Given the description of an element on the screen output the (x, y) to click on. 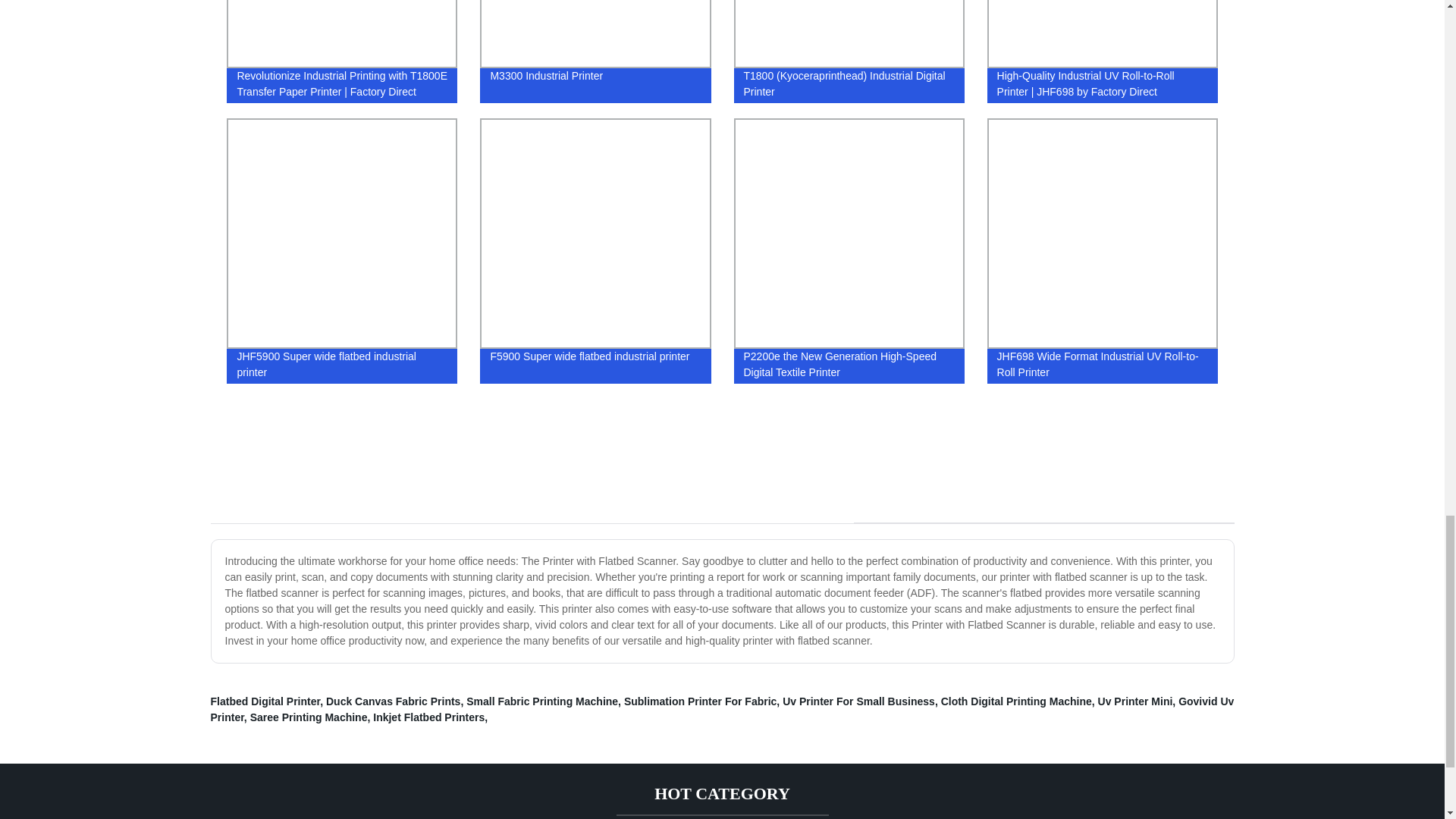
JHF5900 Super wide flatbed industrial printer (341, 250)
M3300 Industrial Printer (595, 55)
F5900 Super wide flatbed industrial printer (595, 250)
